Given the description of an element on the screen output the (x, y) to click on. 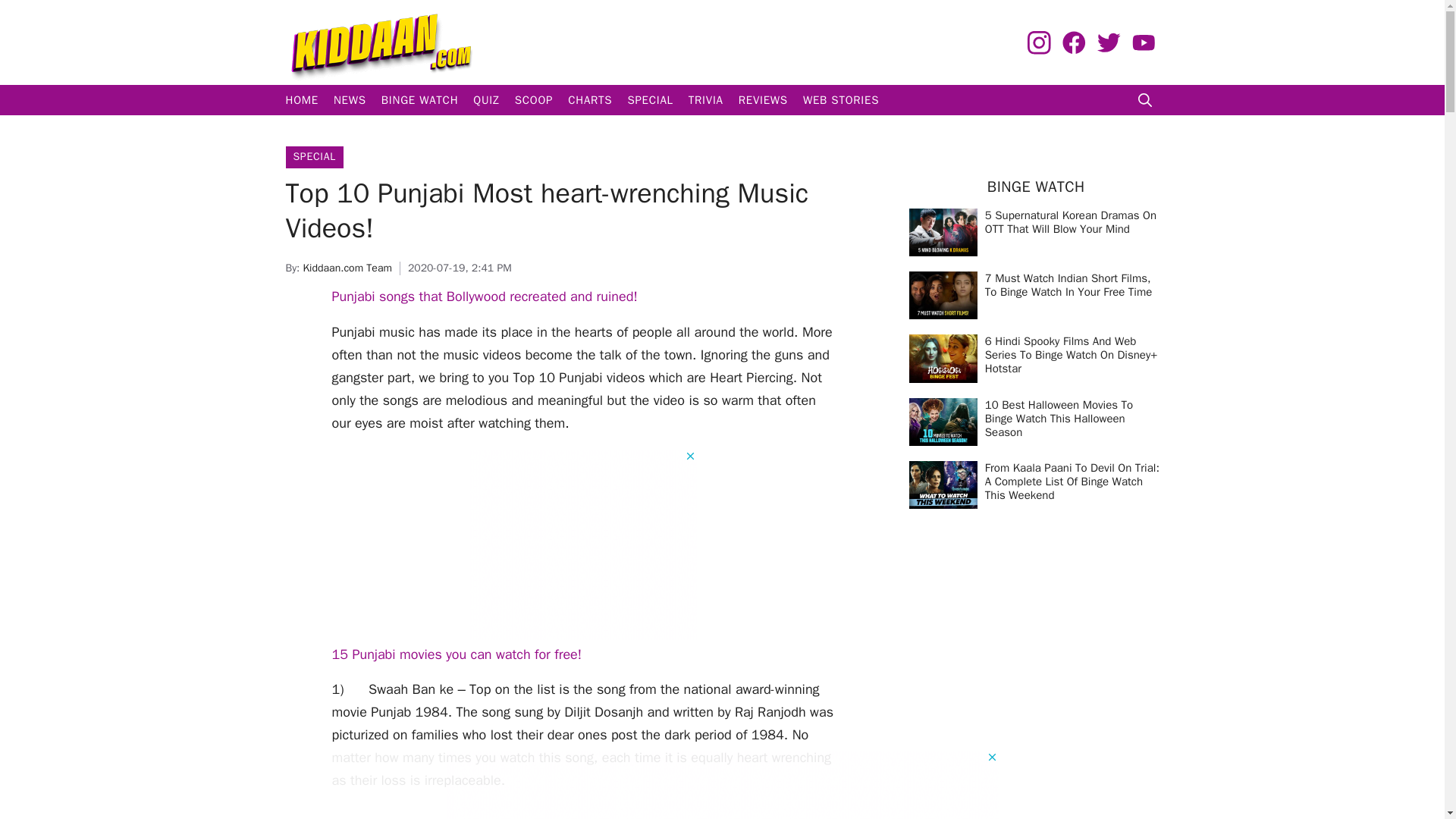
QUIZ (485, 100)
NEWS (350, 100)
SCOOP (533, 100)
15 Punjabi movies you can watch for free! (456, 654)
CHARTS (590, 100)
TRIVIA (705, 100)
SPECIAL (313, 155)
3rd party ad content (582, 544)
Punjabi songs that Bollywood recreated and ruined! (484, 296)
HOME (301, 100)
Kiddaan.com Team (346, 267)
